Given the description of an element on the screen output the (x, y) to click on. 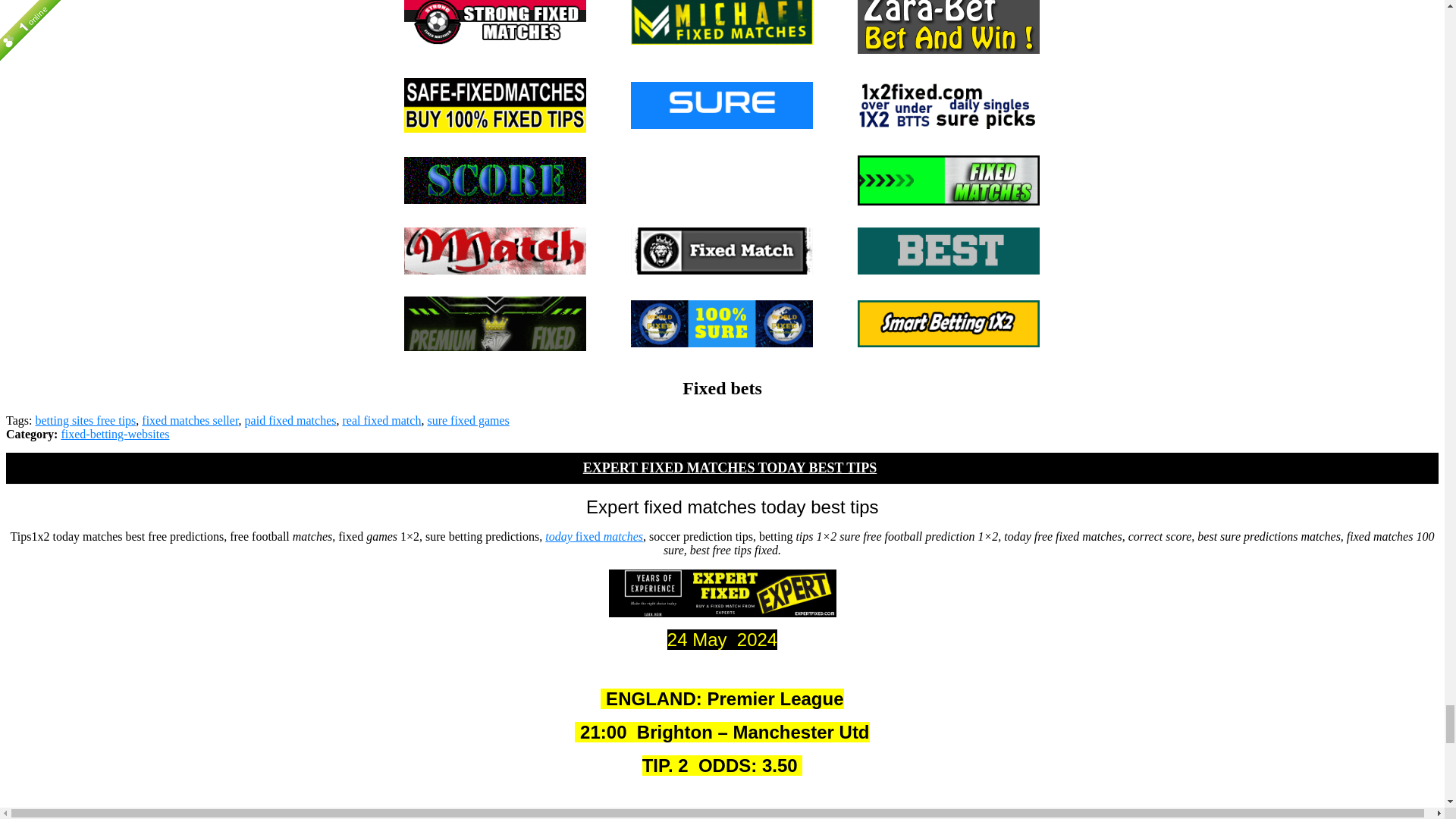
Expert fixed matches today best tips (721, 593)
Fixed bets (948, 250)
Fixed bets (721, 323)
